Given the description of an element on the screen output the (x, y) to click on. 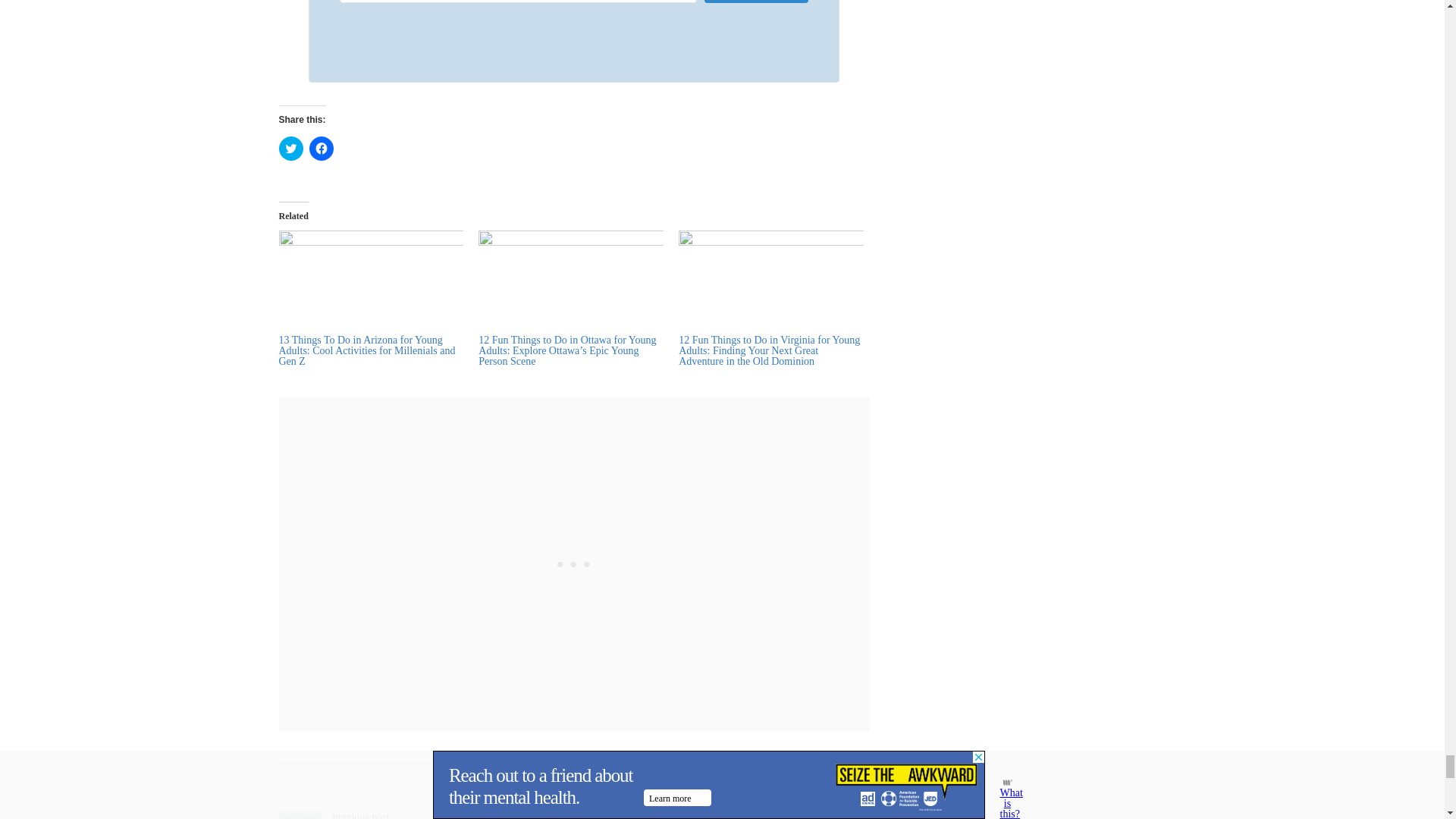
Click to share on Facebook (320, 148)
Click to share on Twitter (290, 148)
